Given the description of an element on the screen output the (x, y) to click on. 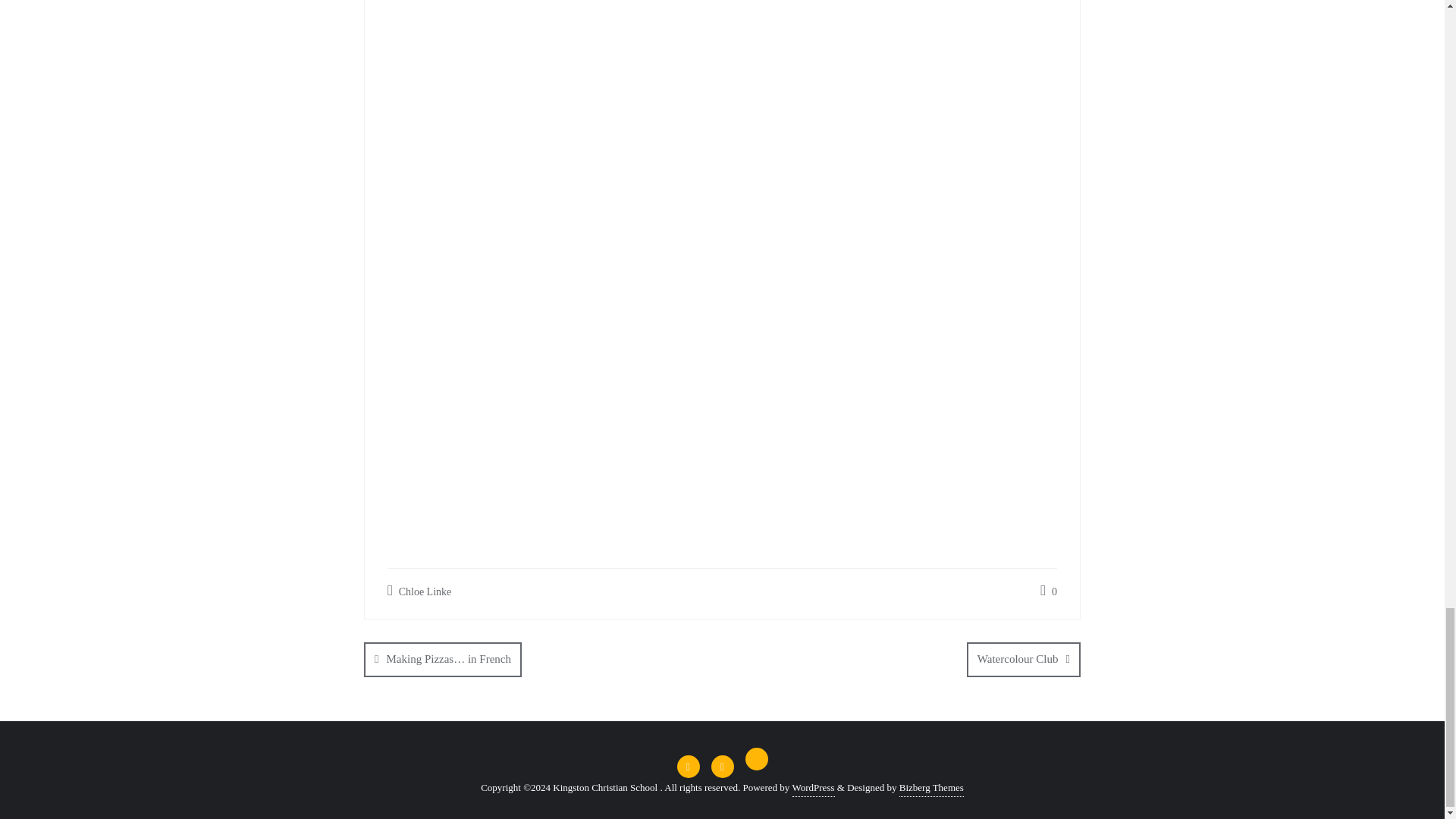
Bizberg Themes (931, 787)
Chloe Linke (419, 591)
WordPress (813, 787)
Watercolour Club (1023, 659)
